Given the description of an element on the screen output the (x, y) to click on. 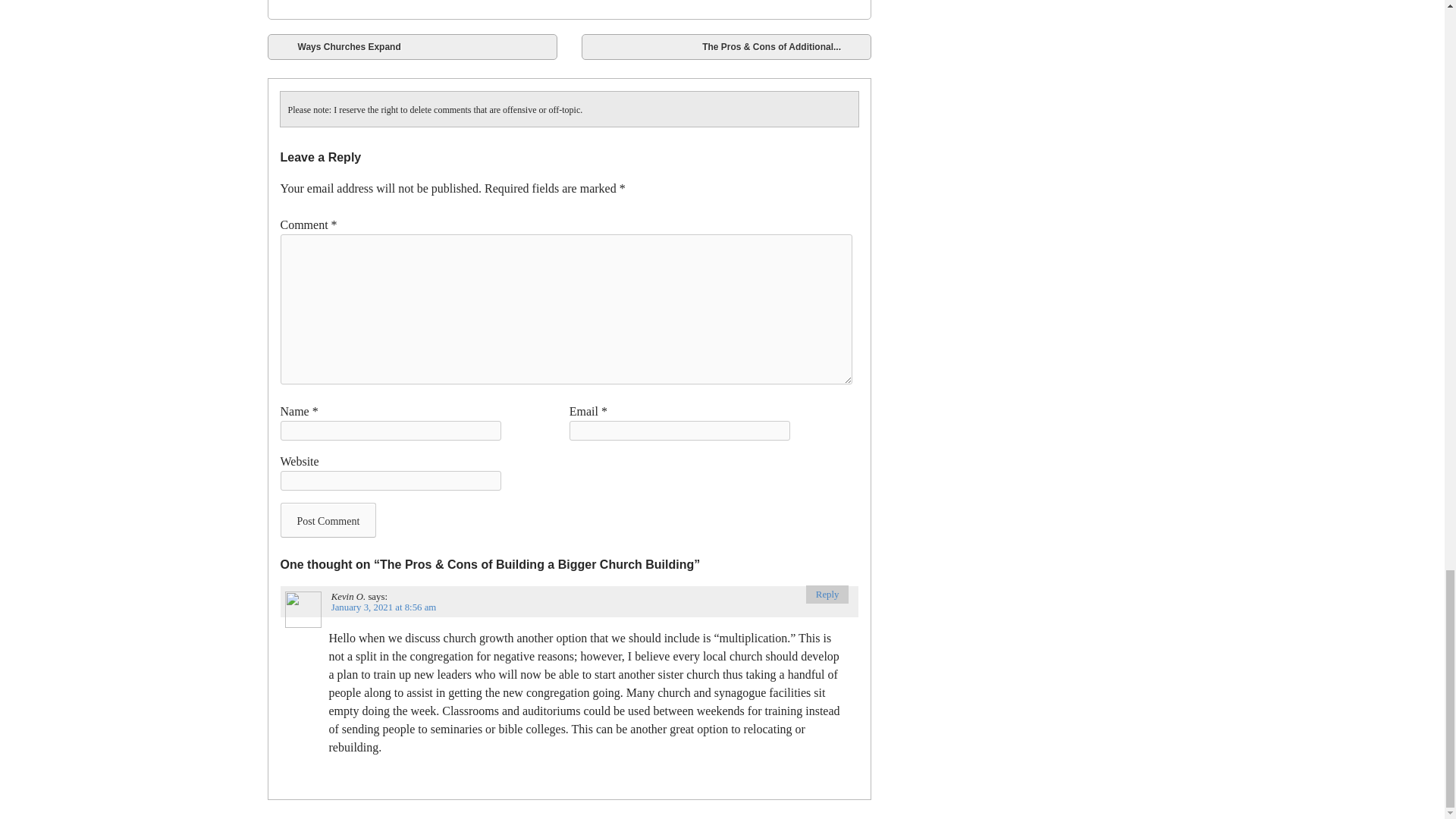
Post Comment (329, 519)
Post Comment (329, 519)
January 3, 2021 at 8:56 am (383, 606)
Reply (827, 594)
